Given the description of an element on the screen output the (x, y) to click on. 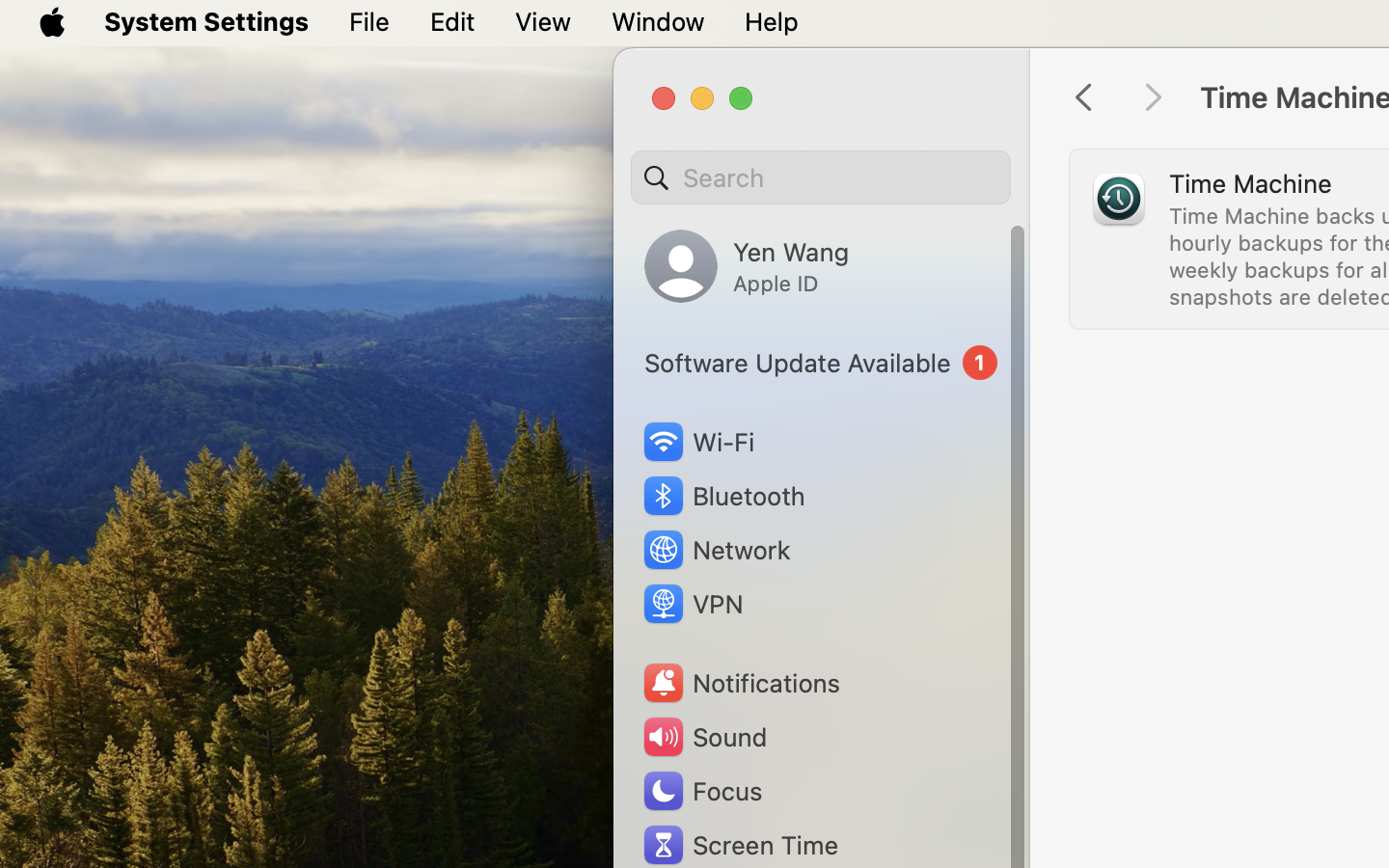
Focus Element type: AXStaticText (701, 790)
